Given the description of an element on the screen output the (x, y) to click on. 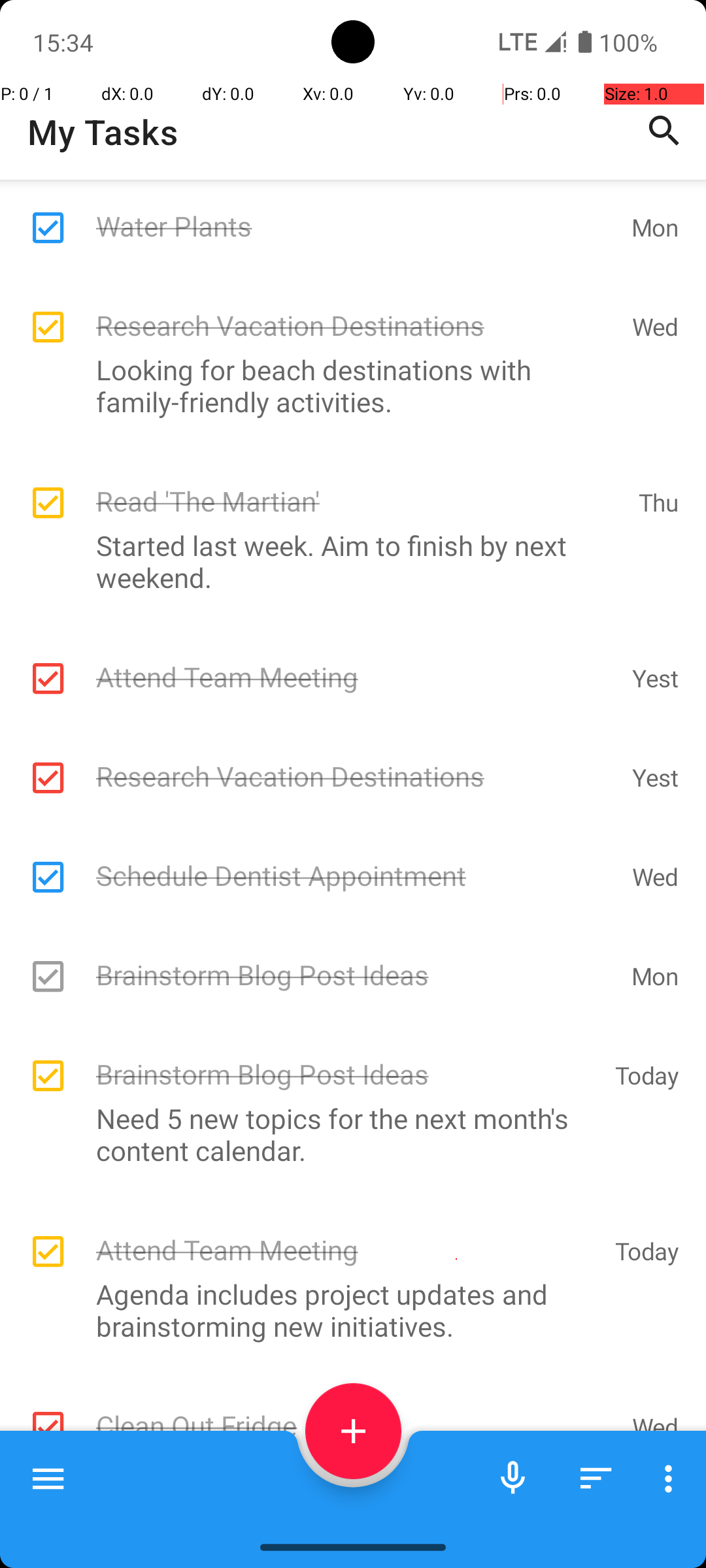
Need 5 new topics for the next month's content calendar. Element type: android.widget.TextView (346, 1133)
